Given the description of an element on the screen output the (x, y) to click on. 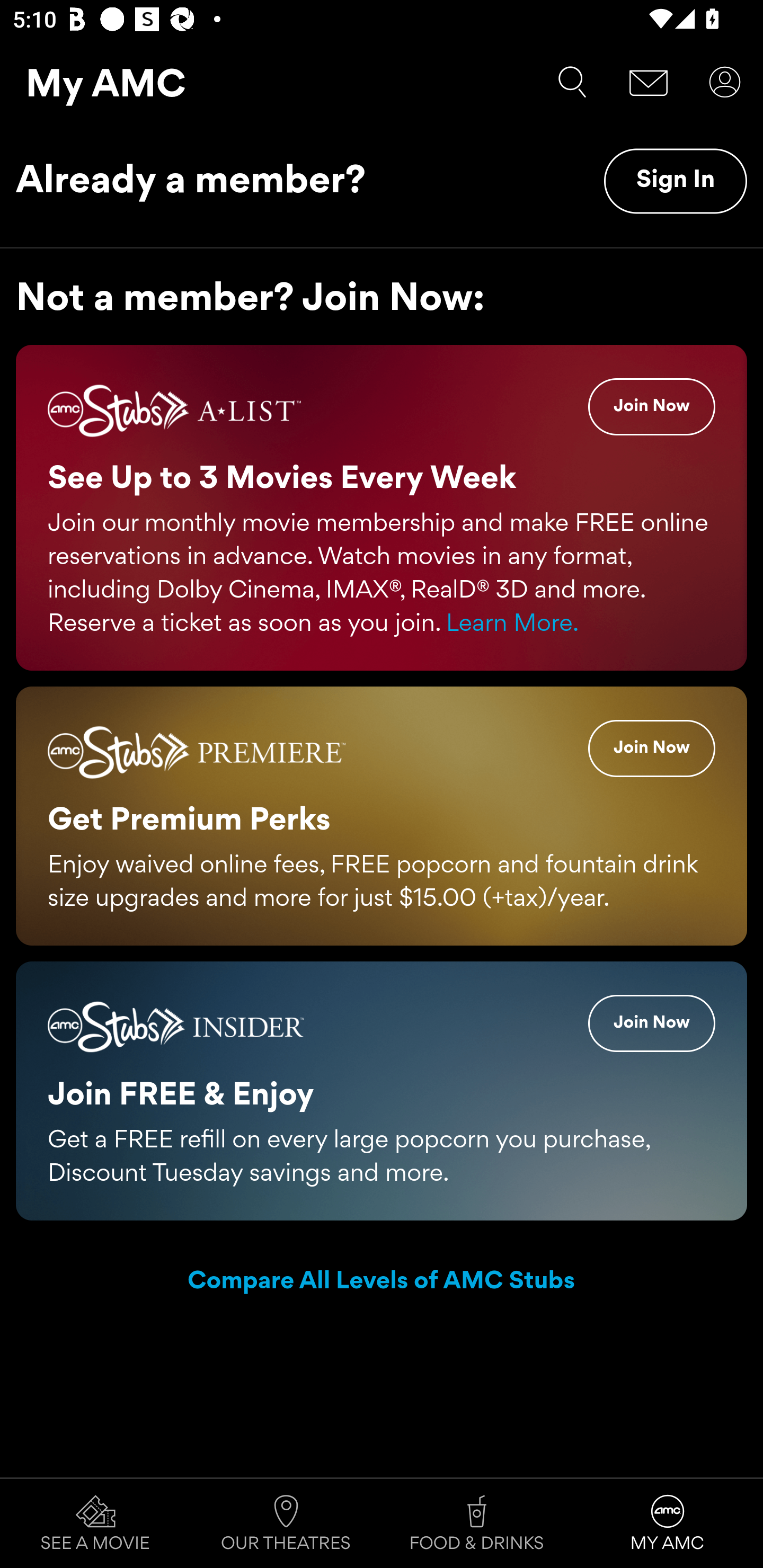
Search (572, 82)
Message Center (648, 82)
User Account (724, 82)
Sign In (675, 180)
A-List Join Now (651, 406)
Premiere Join Now (651, 748)
Insider Join Now (651, 1022)
Compare All Levels of AMC Stubs (381, 1282)
SEE A MOVIE
Tab 1 of 4 (95, 1523)
OUR THEATRES
Tab 2 of 4 (285, 1523)
FOOD & DRINKS
Tab 3 of 4 (476, 1523)
MY AMC
Tab 4 of 4 (667, 1523)
